Given the description of an element on the screen output the (x, y) to click on. 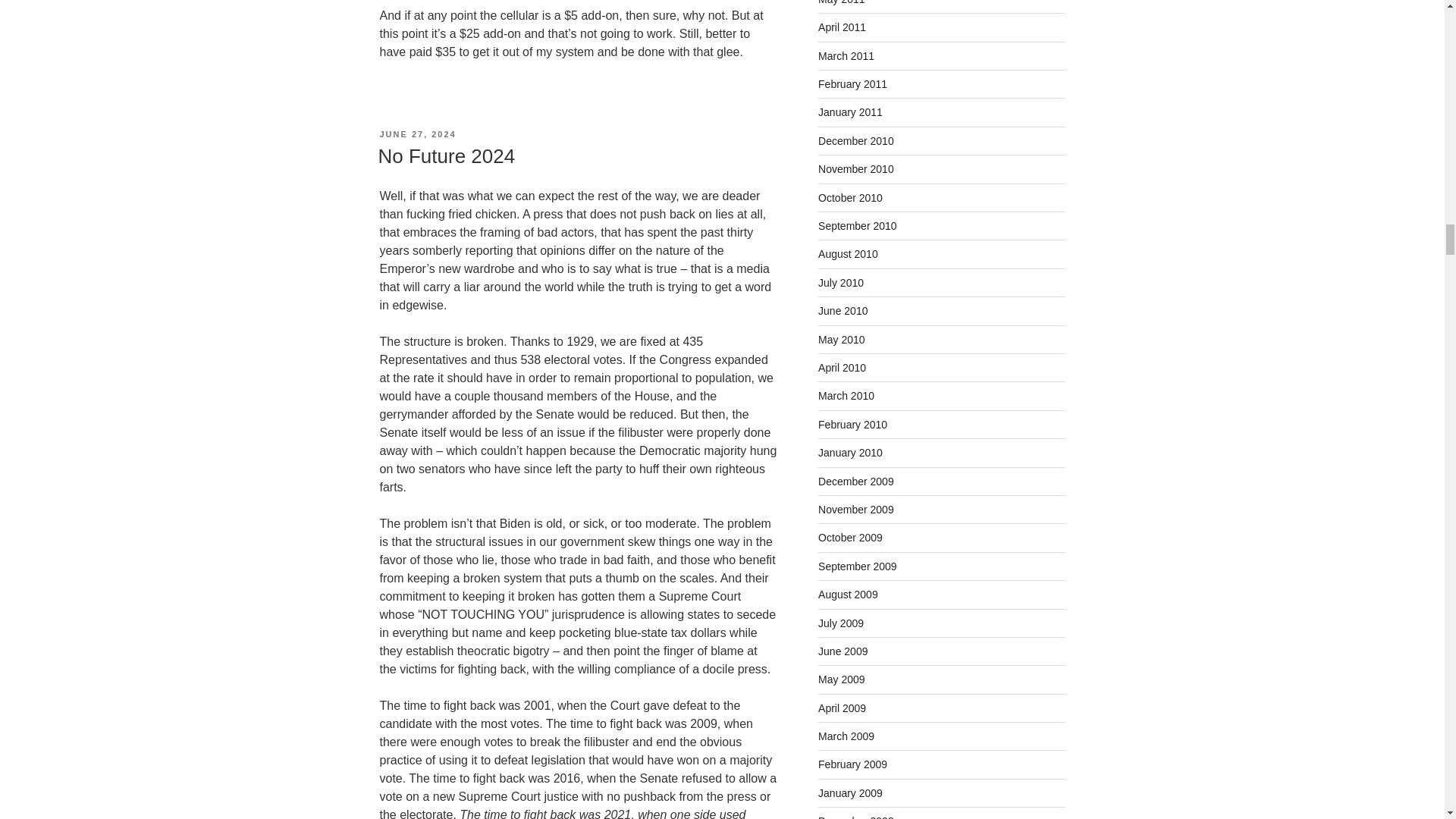
JUNE 27, 2024 (416, 133)
No Future 2024 (446, 155)
